Given the description of an element on the screen output the (x, y) to click on. 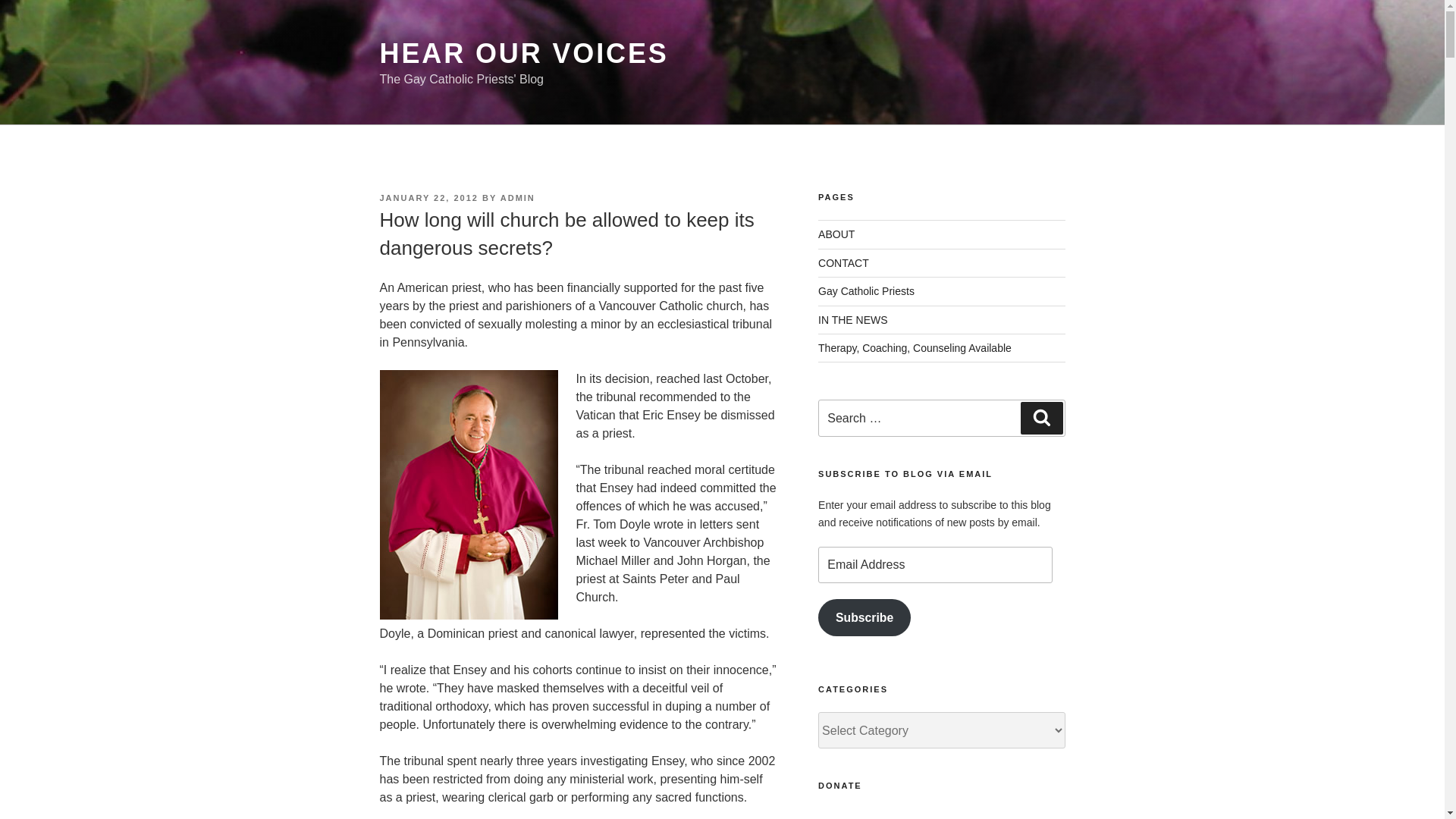
Therapy, Coaching, Counseling Available (914, 347)
Search (1041, 418)
ADMIN (517, 197)
ABOUT (836, 234)
HEAR OUR VOICES (523, 52)
IN THE NEWS (853, 319)
Gay Catholic Priests (866, 291)
Subscribe (864, 617)
CONTACT (843, 263)
JANUARY 22, 2012 (427, 197)
